Given the description of an element on the screen output the (x, y) to click on. 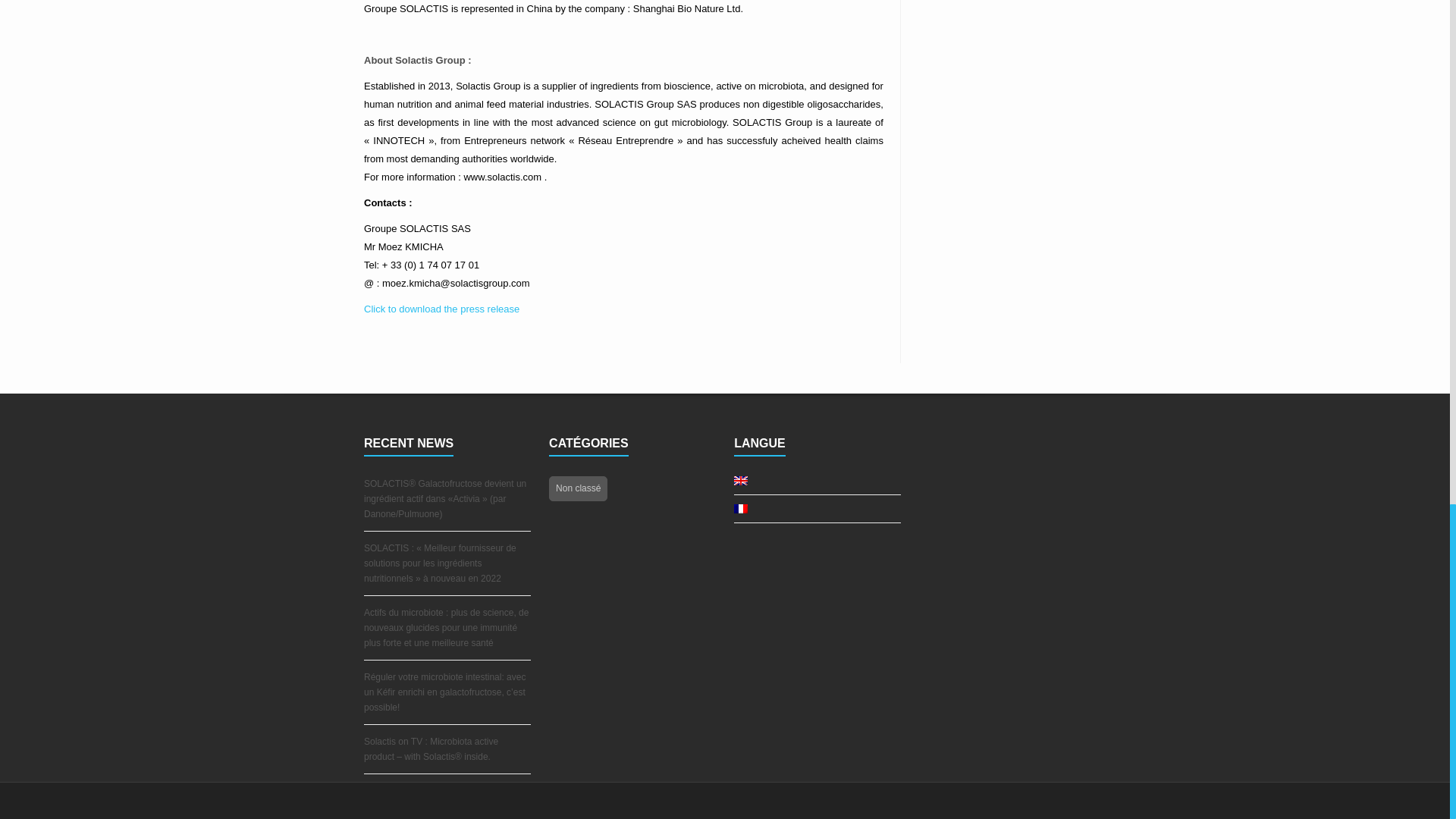
English (740, 480)
Click to download the press release (441, 308)
